Given the description of an element on the screen output the (x, y) to click on. 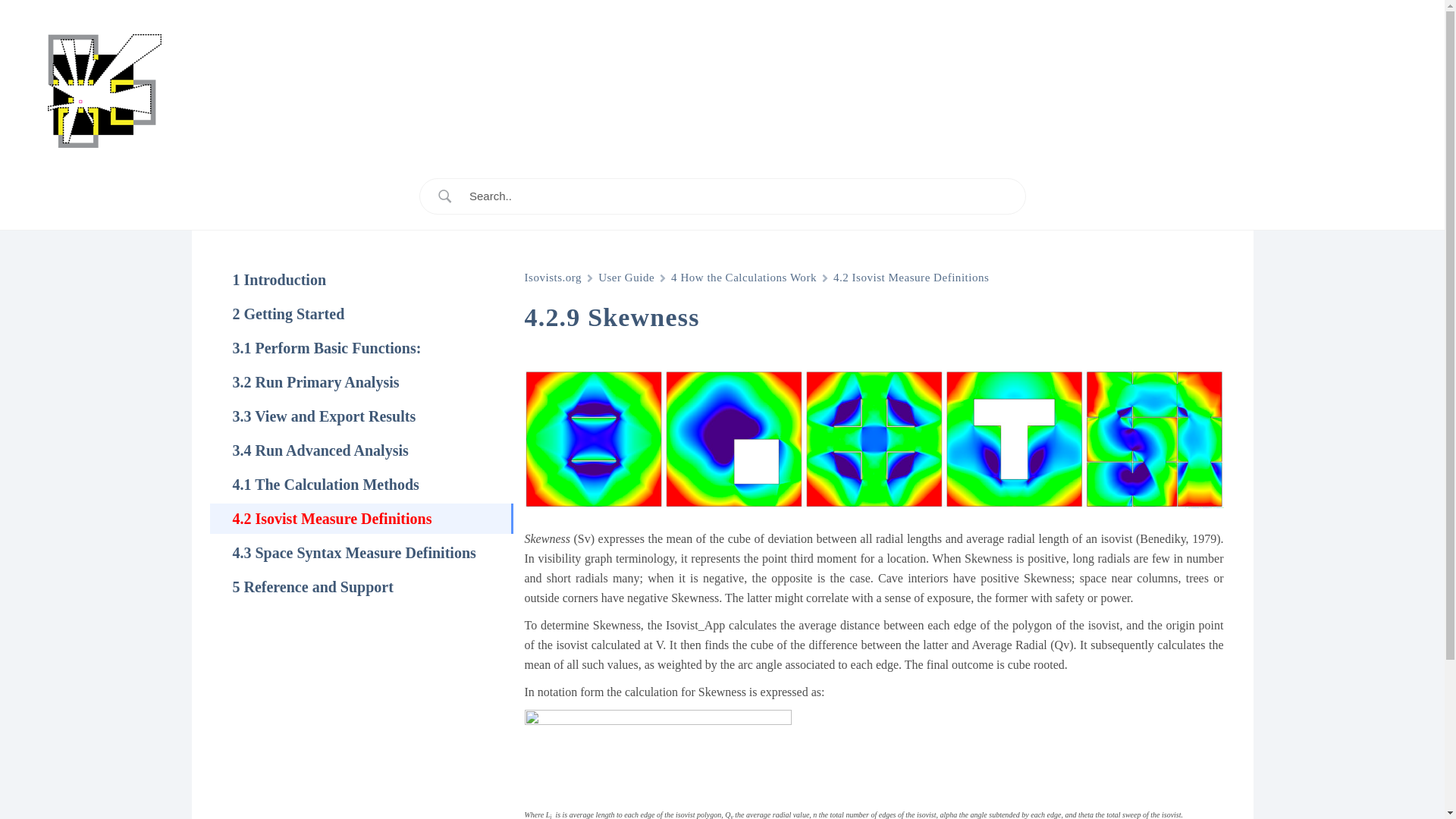
4.2 Isovist Measure Definitions (910, 278)
4 How the Calculations Work (743, 278)
Support (1375, 91)
Isovists.org (553, 278)
User Guide (625, 278)
Isovists.org (104, 89)
